Given the description of an element on the screen output the (x, y) to click on. 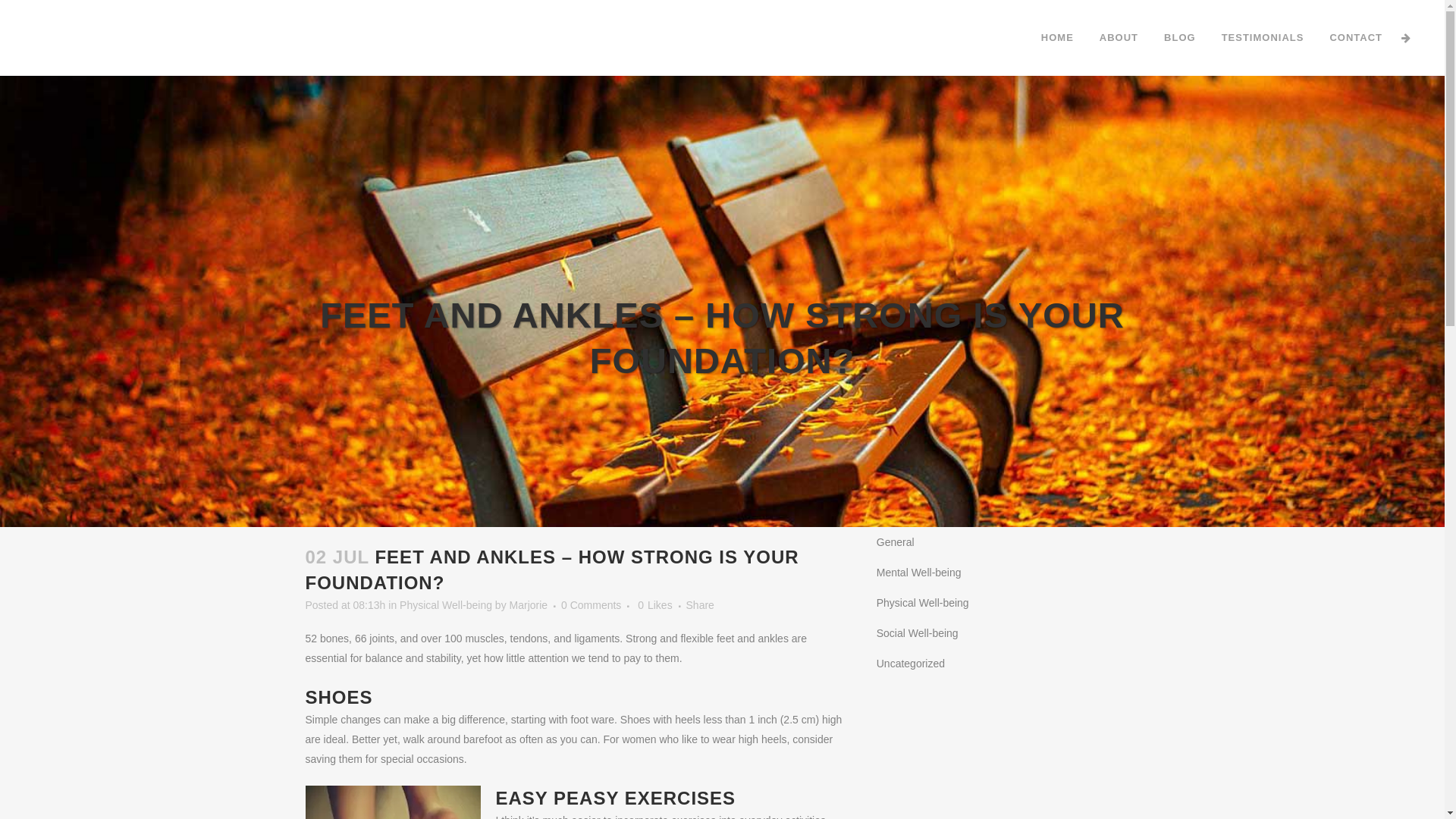
0 Likes Element type: text (654, 604)
Uncategorized Element type: text (910, 663)
General Element type: text (895, 542)
ABOUT Element type: text (1118, 37)
Mental Well-being Element type: text (918, 572)
Physical Well-being Element type: text (445, 605)
Social Well-being Element type: text (917, 633)
Physical Well-being Element type: text (922, 602)
Marjorie Element type: text (528, 605)
HOME Element type: text (1057, 37)
TESTIMONIALS Element type: text (1262, 37)
0 Comments Element type: text (591, 605)
BLOG Element type: text (1179, 37)
Share Element type: text (700, 605)
CONTACT Element type: text (1355, 37)
